Given the description of an element on the screen output the (x, y) to click on. 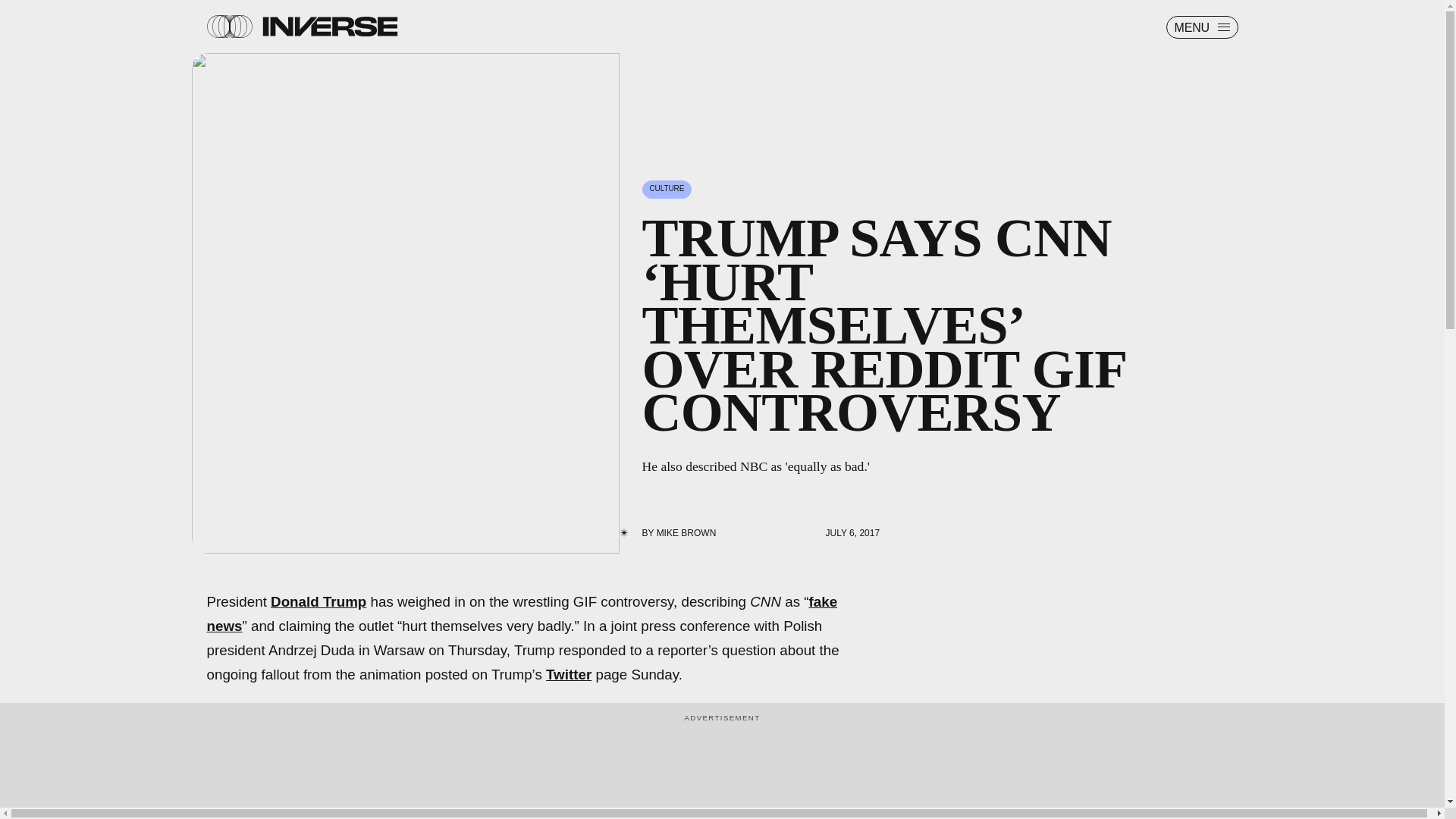
Donald Trump (318, 601)
MIKE BROWN (686, 532)
Inverse (328, 26)
Twitter (568, 674)
fake news (521, 613)
